Given the description of an element on the screen output the (x, y) to click on. 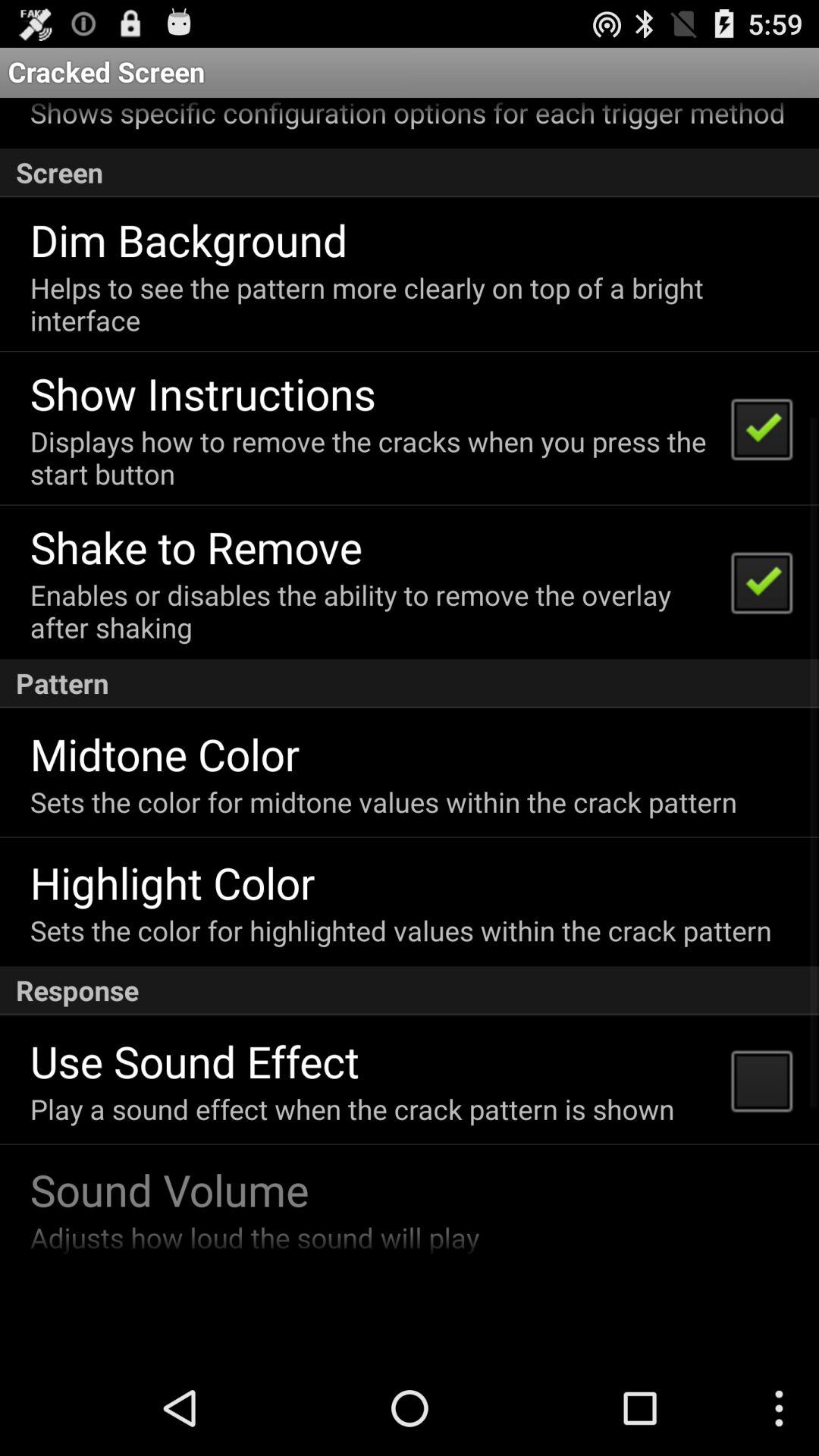
press app above the shake to remove (370, 457)
